Given the description of an element on the screen output the (x, y) to click on. 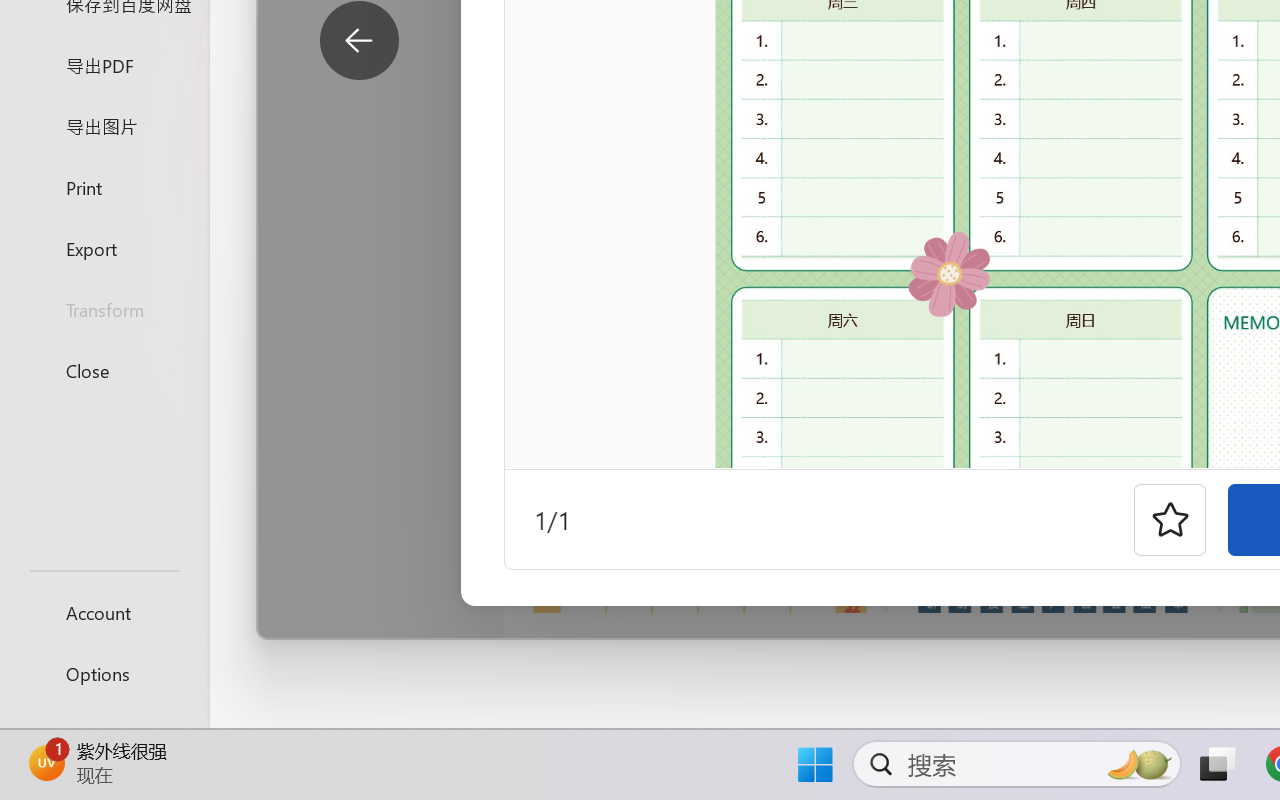
Account (104, 612)
Options (104, 673)
Export (104, 248)
Transform (104, 309)
Print (104, 186)
